Given the description of an element on the screen output the (x, y) to click on. 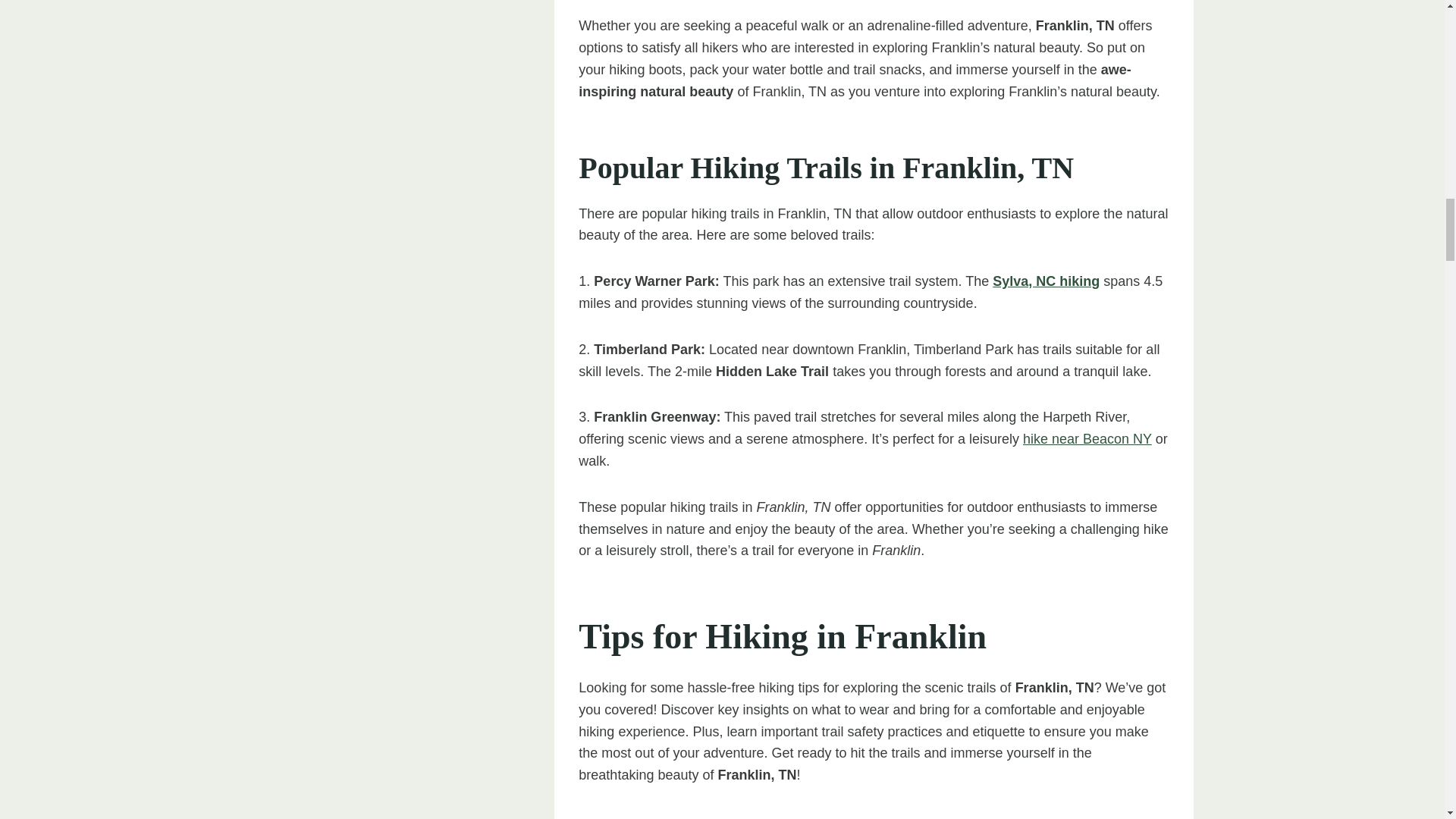
Sylva, NC hiking (1045, 281)
hike near Beacon NY (1087, 438)
